Given the description of an element on the screen output the (x, y) to click on. 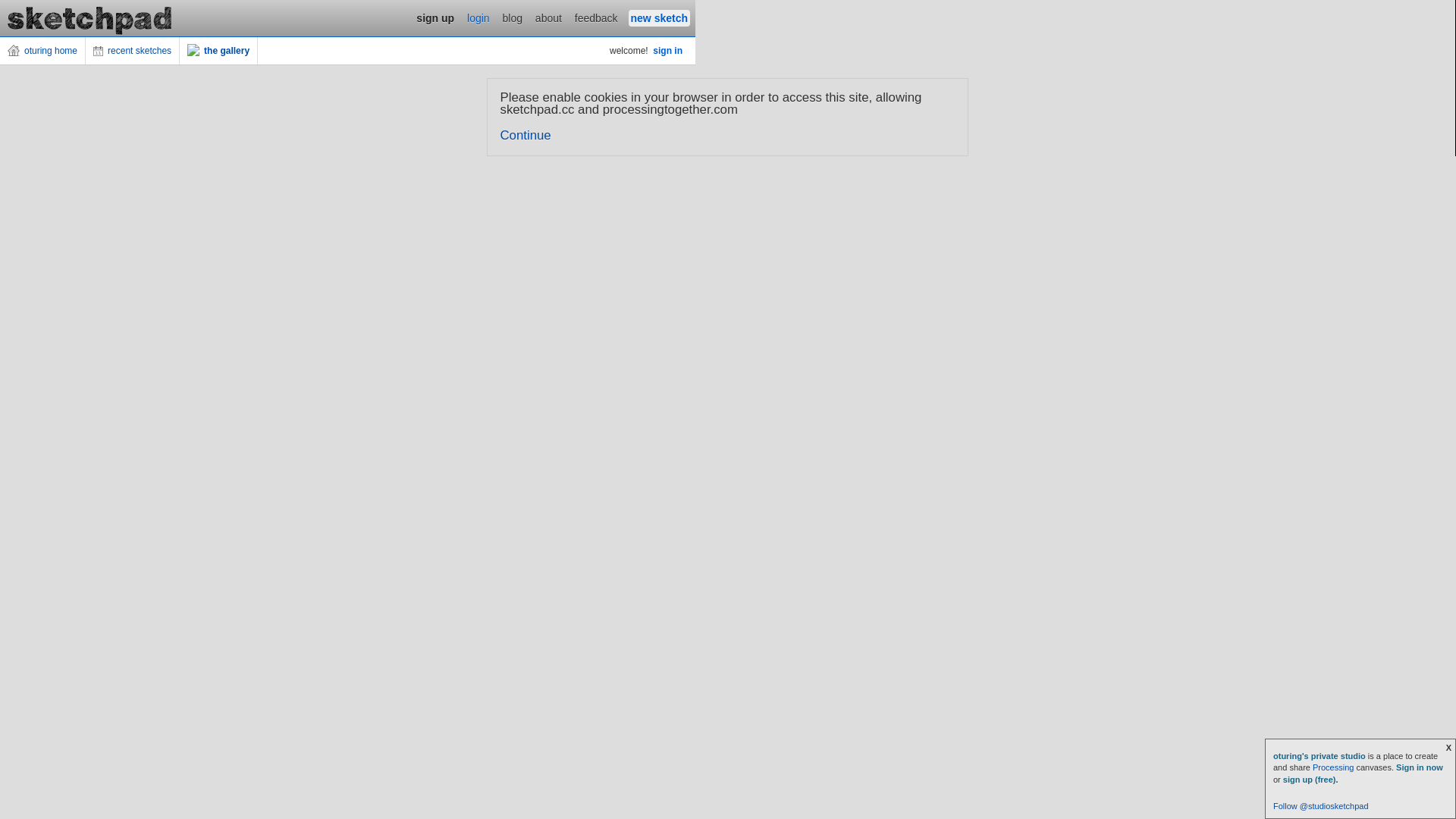
Processing Element type: text (1332, 766)
the gallery Element type: text (218, 50)
sign in Element type: text (667, 50)
oturing home Element type: text (42, 50)
feedback Element type: text (596, 17)
Studio Sketchpad is Processing on Etherpad Element type: hover (90, 18)
new sketch Element type: text (659, 17)
recent sketches Element type: text (132, 50)
about Element type: text (548, 17)
Follow @studiosketchpad Element type: text (1320, 805)
sign up (free) Element type: text (1309, 779)
oturing's private studio Element type: text (1320, 755)
Continue Element type: text (525, 135)
blog Element type: text (512, 17)
sign up Element type: text (435, 17)
login Element type: text (478, 17)
Sign in now Element type: text (1419, 766)
